Given the description of an element on the screen output the (x, y) to click on. 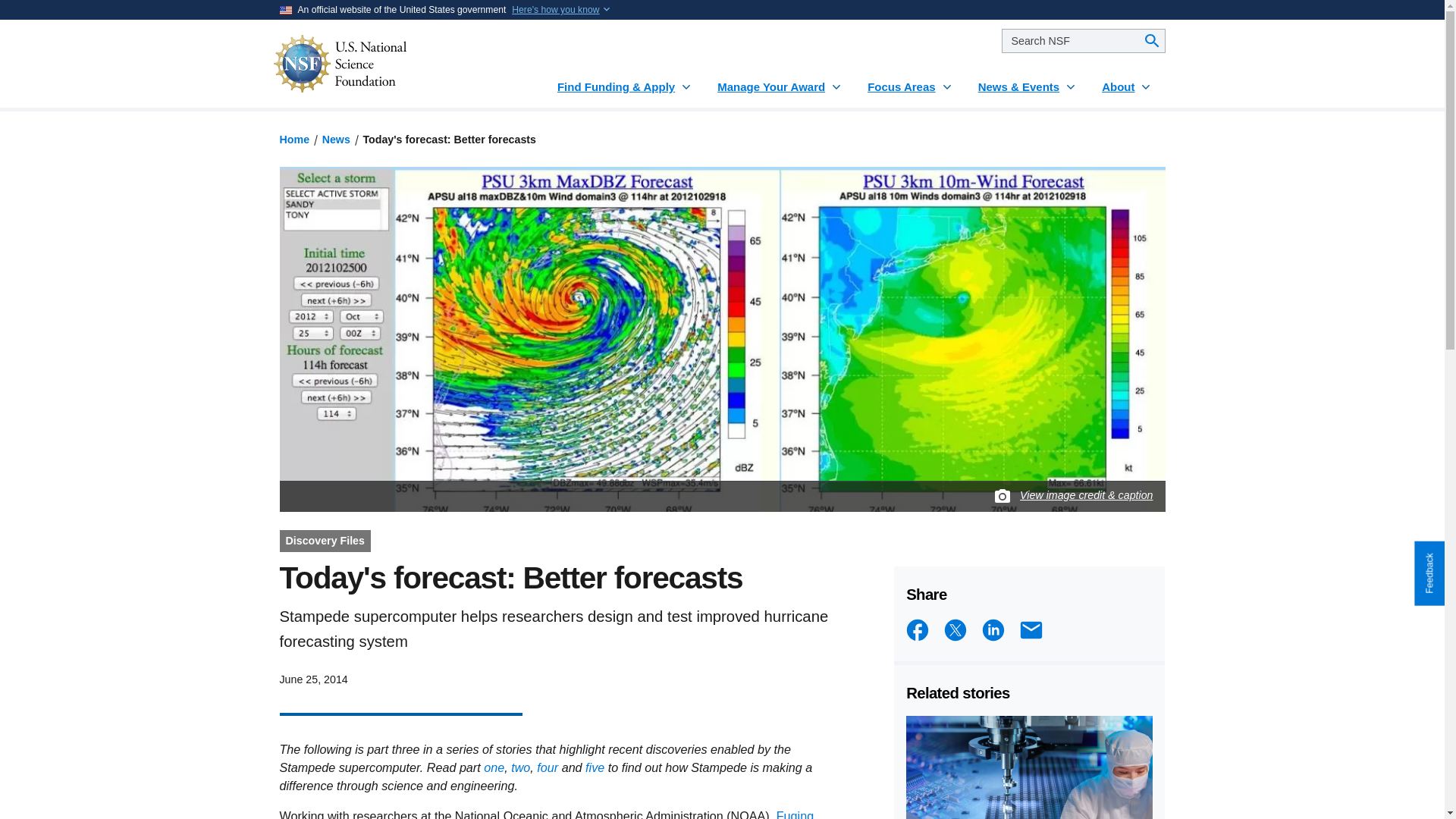
Fuqing Zhang (546, 814)
Focus Areas (910, 80)
Home (293, 139)
News (335, 139)
Here's how you know (555, 9)
About (1126, 80)
Email (1030, 629)
five (594, 766)
Manage Your Award (780, 80)
NSF - National Science Foundation - Home (385, 63)
Facebook (917, 629)
search (1082, 40)
two (520, 766)
LinkedIn (992, 629)
